Given the description of an element on the screen output the (x, y) to click on. 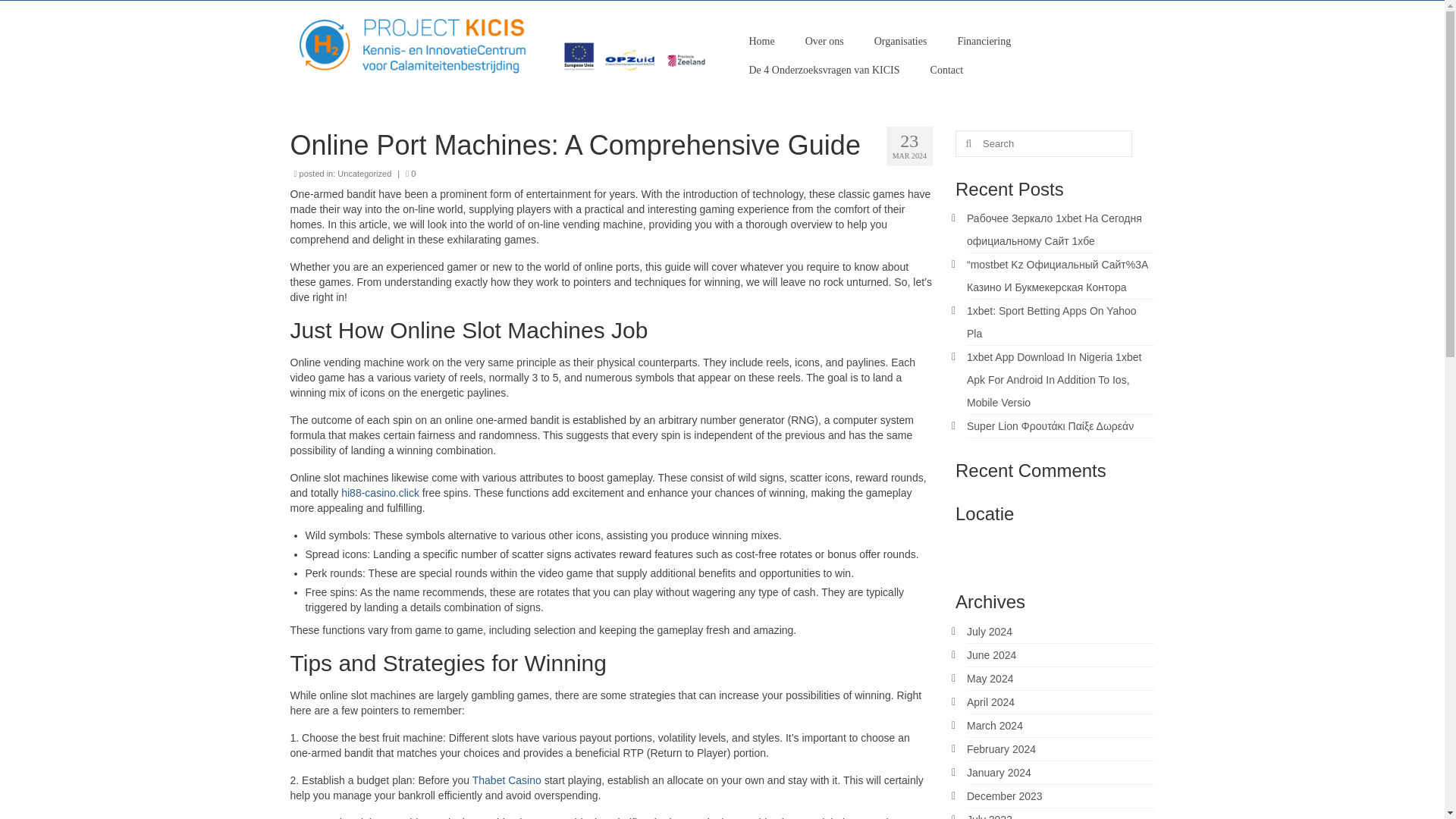
Thabet Casino (506, 779)
Contact (946, 70)
1xbet: Sport Betting Apps On Yahoo Pla (1051, 321)
December 2023 (1004, 796)
March 2024 (994, 725)
Over ons (824, 41)
April 2024 (990, 702)
July 2023 (988, 816)
hi88-casino.click (379, 492)
De 4 Onderzoeksvragen van KICIS (824, 70)
June 2024 (991, 654)
January 2024 (998, 772)
Uncategorized (364, 173)
February 2024 (1000, 748)
